Given the description of an element on the screen output the (x, y) to click on. 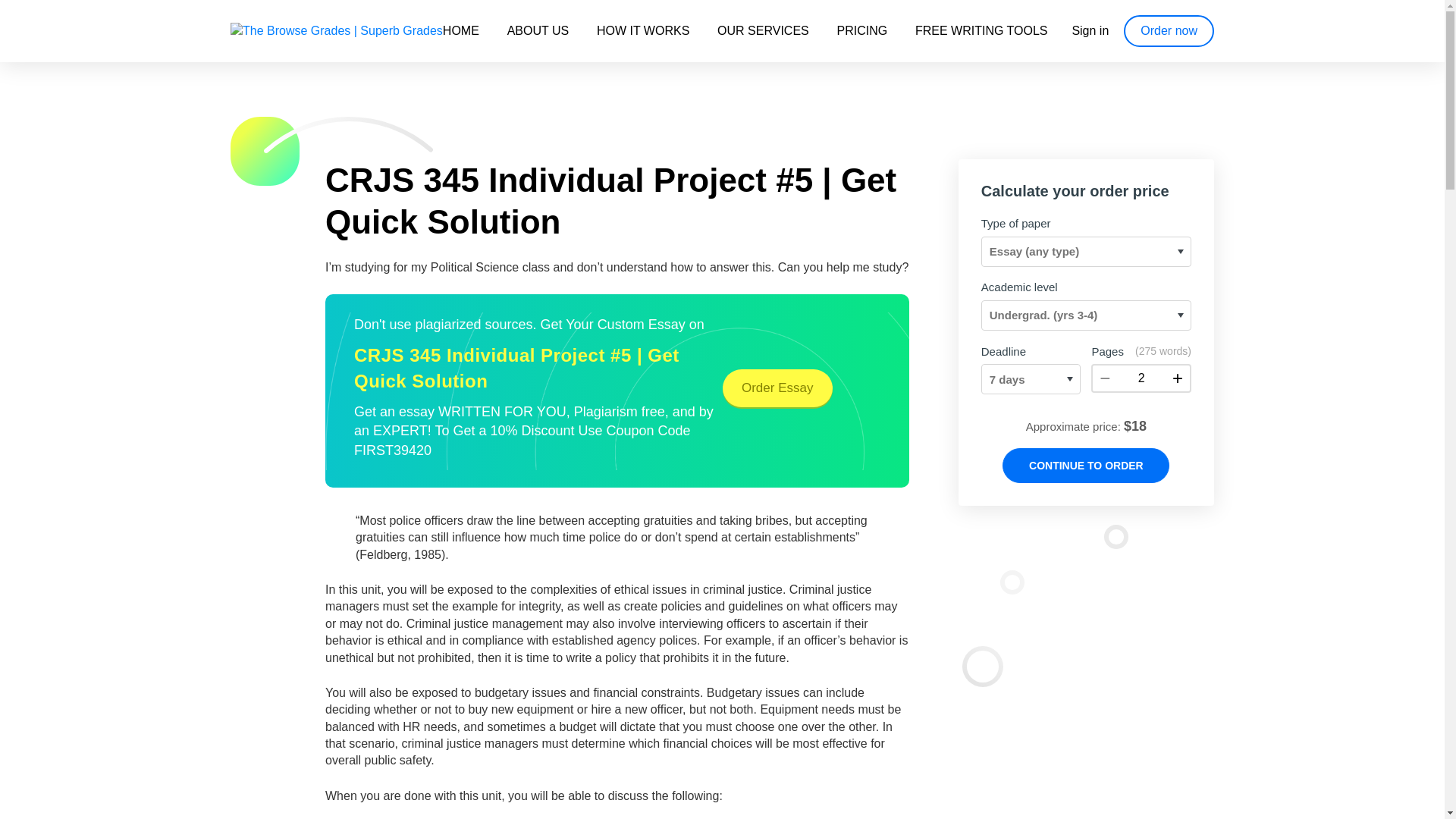
OUR SERVICES (763, 30)
HOME (460, 30)
ABOUT US (537, 30)
Continue to order (1086, 465)
Decrease (1104, 378)
Order Essay (777, 388)
Sign in (1089, 30)
2 (1141, 378)
HOW IT WORKS (642, 30)
PRICING (862, 30)
